Given the description of an element on the screen output the (x, y) to click on. 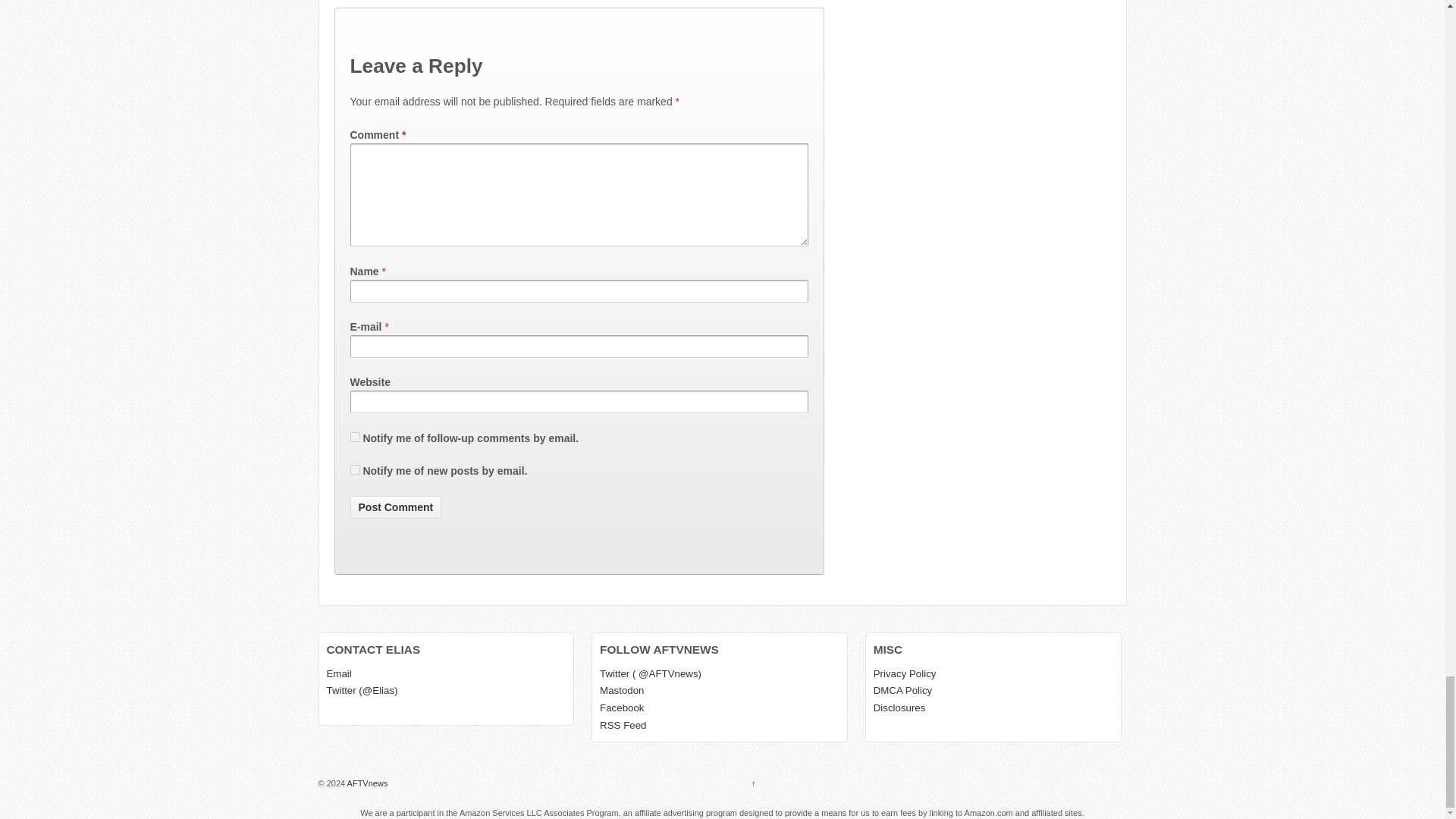
Post Comment (396, 507)
subscribe (354, 437)
subscribe (354, 470)
